Given the description of an element on the screen output the (x, y) to click on. 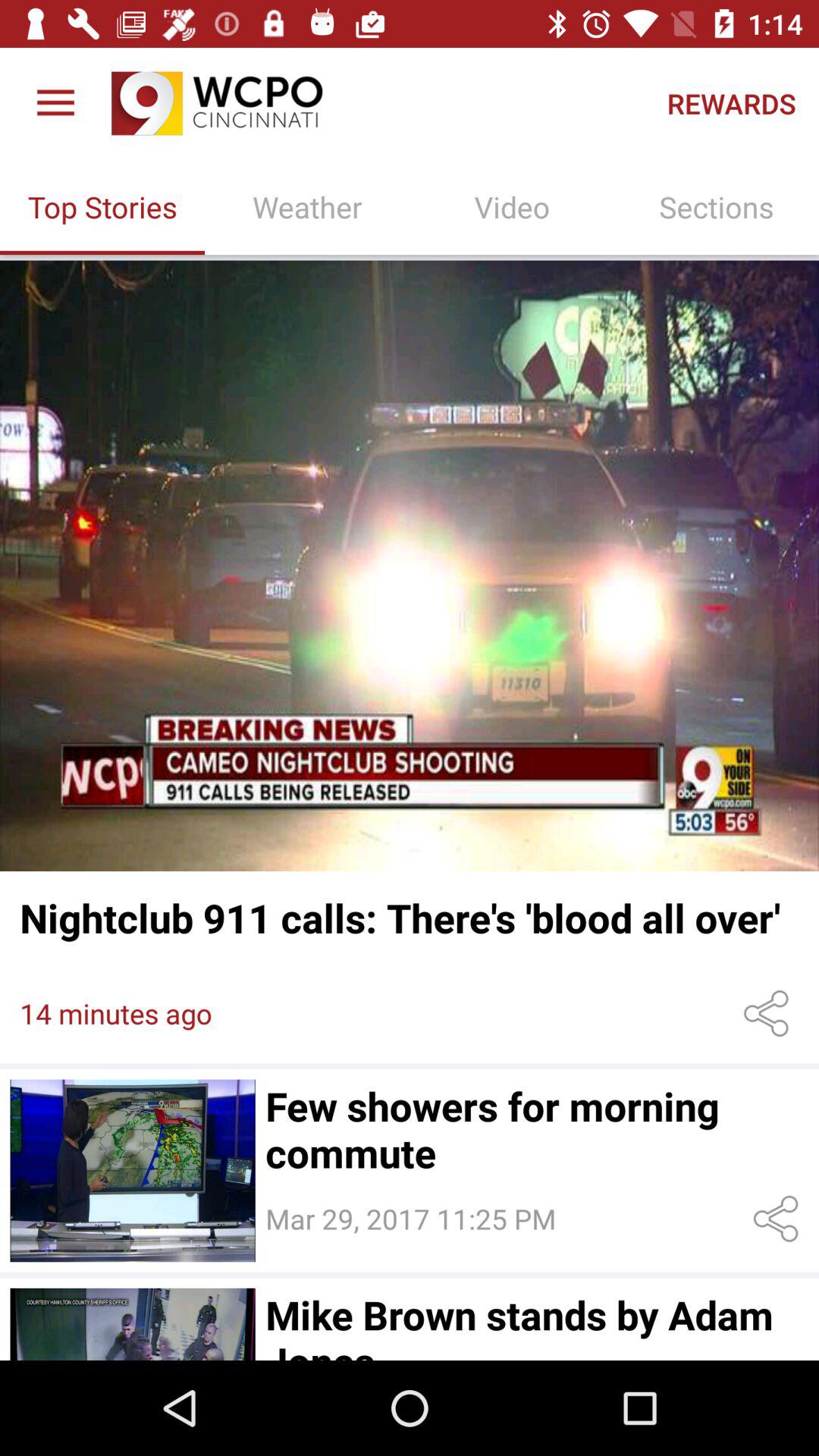
turn off rewards item (731, 103)
